Given the description of an element on the screen output the (x, y) to click on. 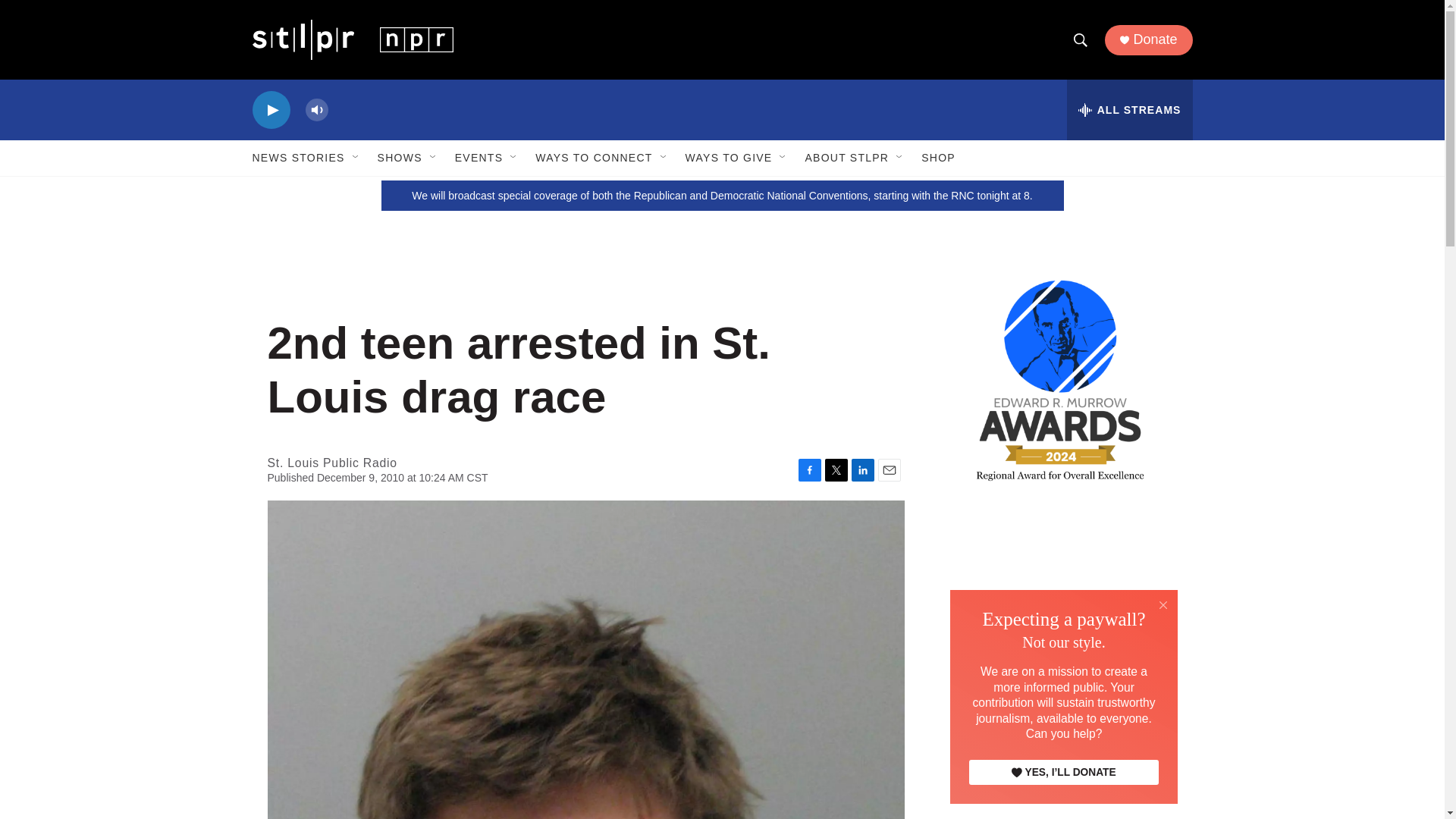
Close (1162, 605)
3rd party ad content (1062, 780)
3rd party ad content (1062, 616)
Close (1162, 604)
